Given the description of an element on the screen output the (x, y) to click on. 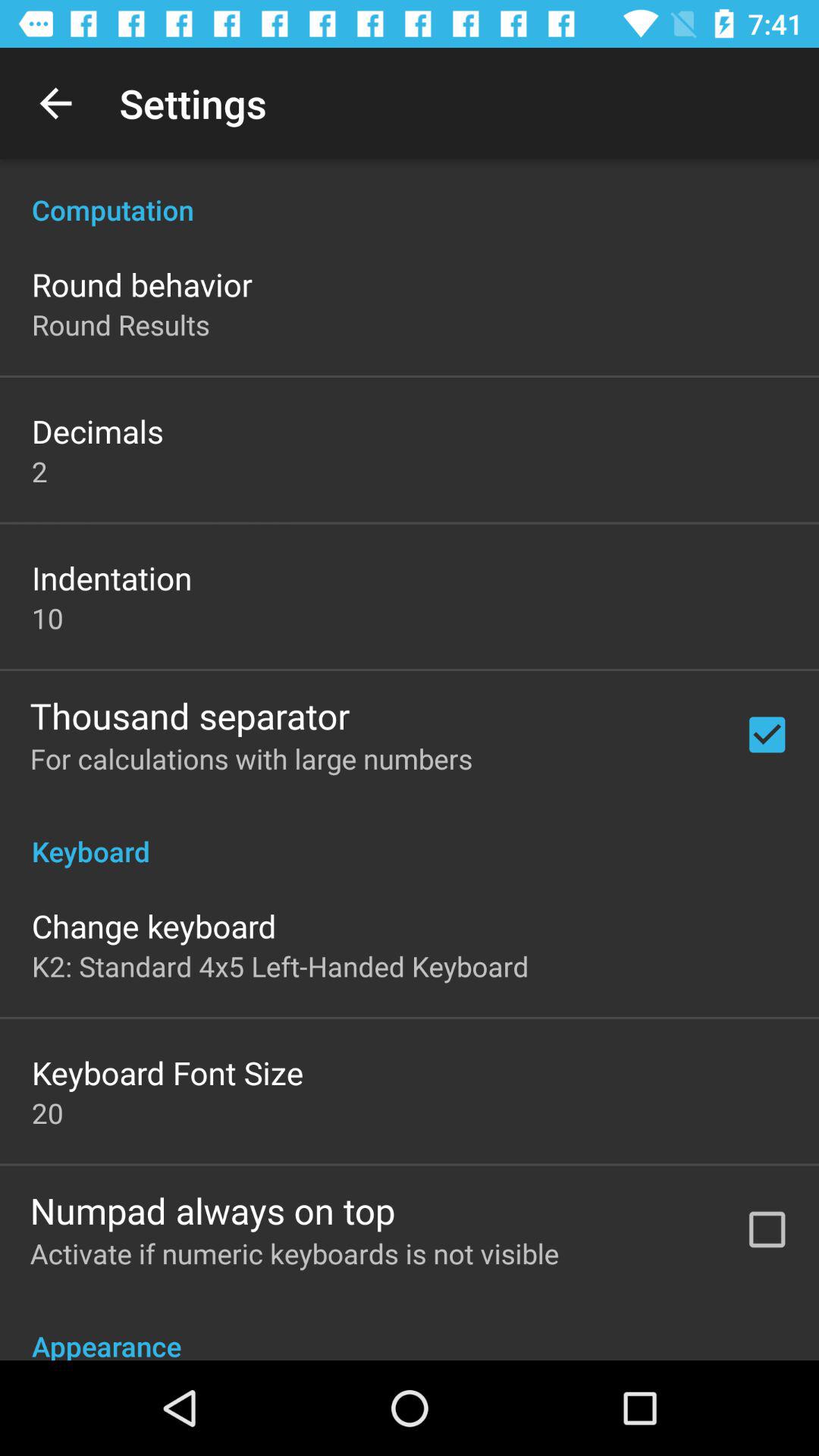
click the app above keyboard font size item (279, 966)
